Given the description of an element on the screen output the (x, y) to click on. 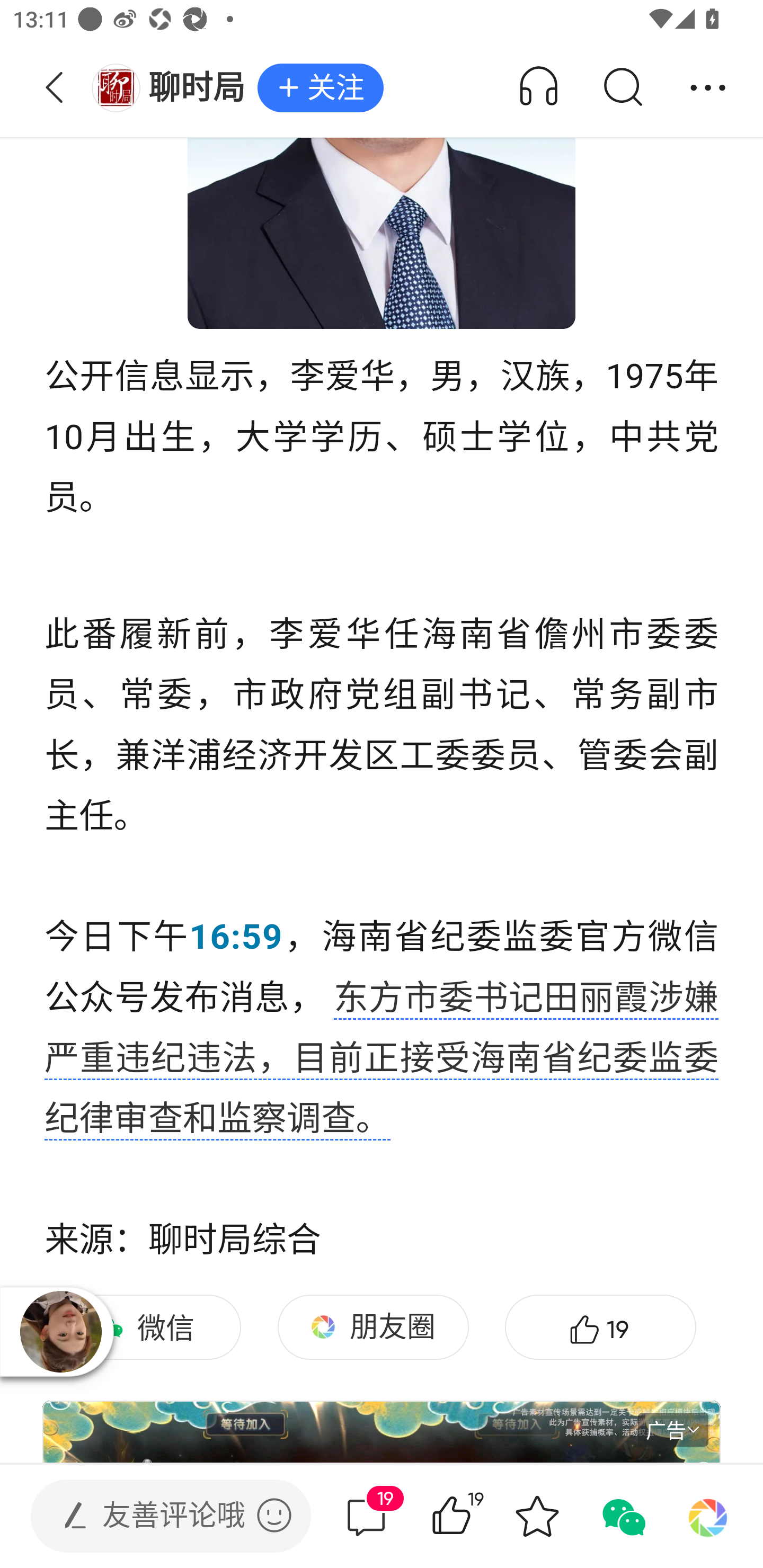
聊时局 (174, 87)
搜索  (622, 87)
分享  (707, 87)
 返回 (54, 87)
 关注 (320, 88)
东方市委书记田丽霞涉嫌严重违纪违法，目前正接受海南省纪委监委纪律审查和监察调查。 (381, 1060)
播放器 (60, 1331)
微信 分享到微信 (145, 1327)
朋友圈 分享到朋友圈 (373, 1327)
19赞 (600, 1327)
广告 (672, 1429)
发表评论  友善评论哦 发表评论  (155, 1516)
19评论  19 评论 (365, 1516)
19赞 (476, 1516)
收藏  (536, 1516)
分享到微信  (622, 1516)
分享到朋友圈 (707, 1516)
 (274, 1515)
